Given the description of an element on the screen output the (x, y) to click on. 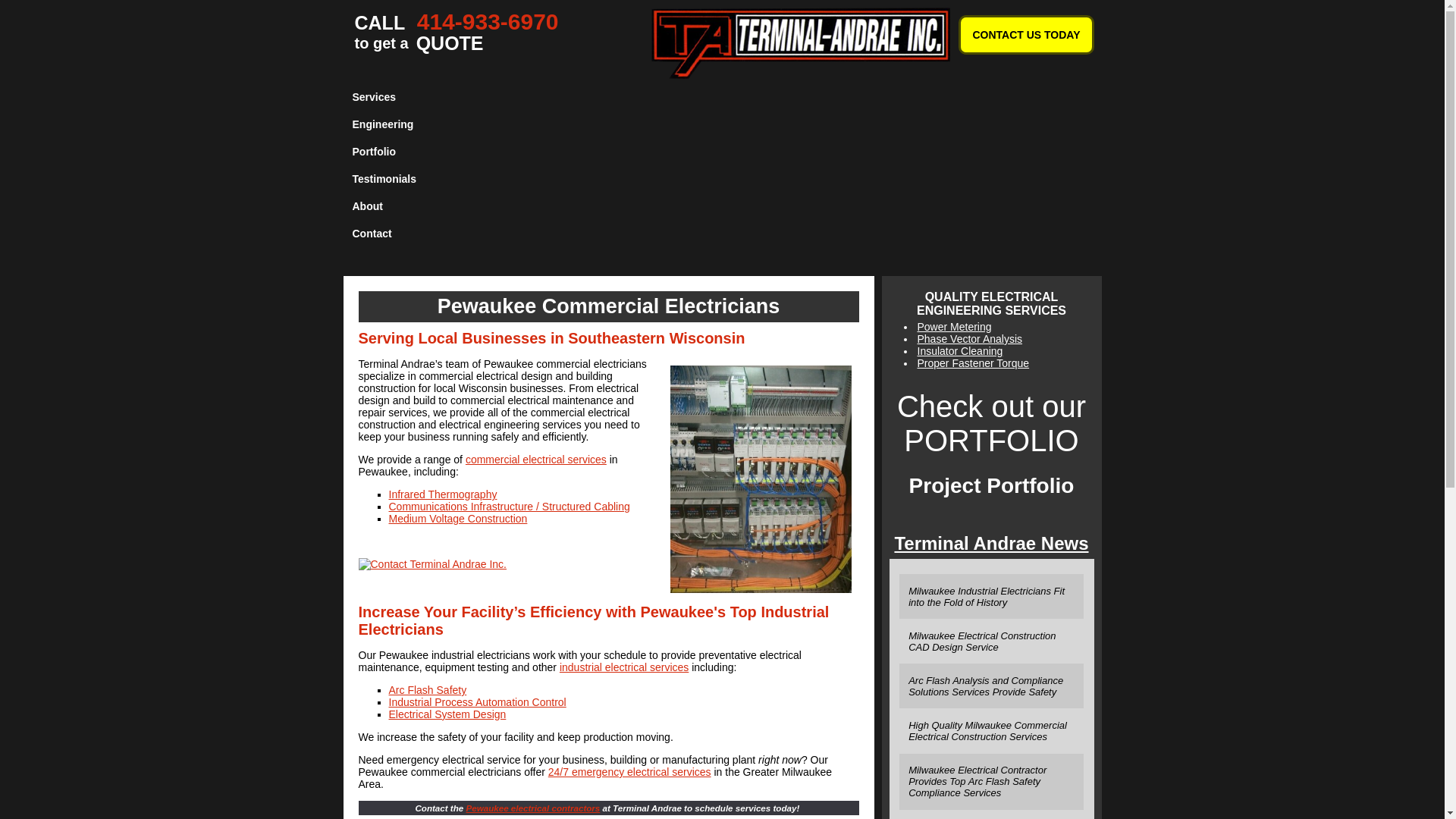
Pewaukee electrical contractors (532, 808)
Arc Flash Safety (426, 689)
Industrial Process Automation Control (477, 702)
Infrared Thermography (442, 494)
Services (387, 96)
Testimonials (387, 178)
Portfolio (457, 34)
industrial electrical services (387, 151)
Electrical System Design (623, 666)
Contact (446, 714)
CONTACT US TODAY (387, 233)
